Given the description of an element on the screen output the (x, y) to click on. 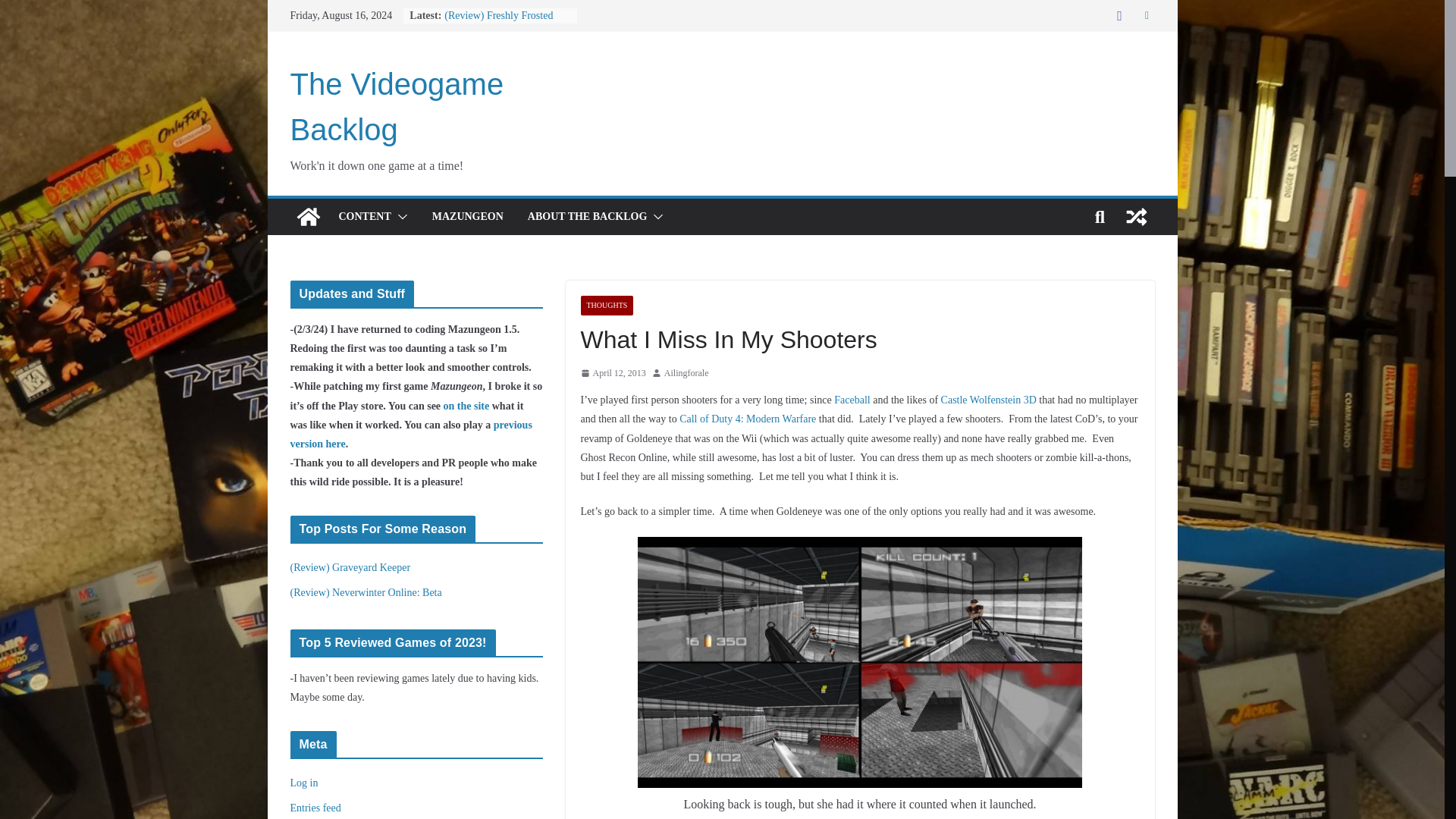
ABOUT THE BACKLOG (586, 216)
Castle Wolfenstein 3D (988, 399)
Ailingforale (686, 373)
April 12, 2013 (613, 373)
THOUGHTS (606, 305)
Ailingforale (686, 373)
The Videogame Backlog (307, 217)
MAZUNGEON (467, 216)
The Videogame Backlog (396, 106)
07:12 (613, 373)
